Given the description of an element on the screen output the (x, y) to click on. 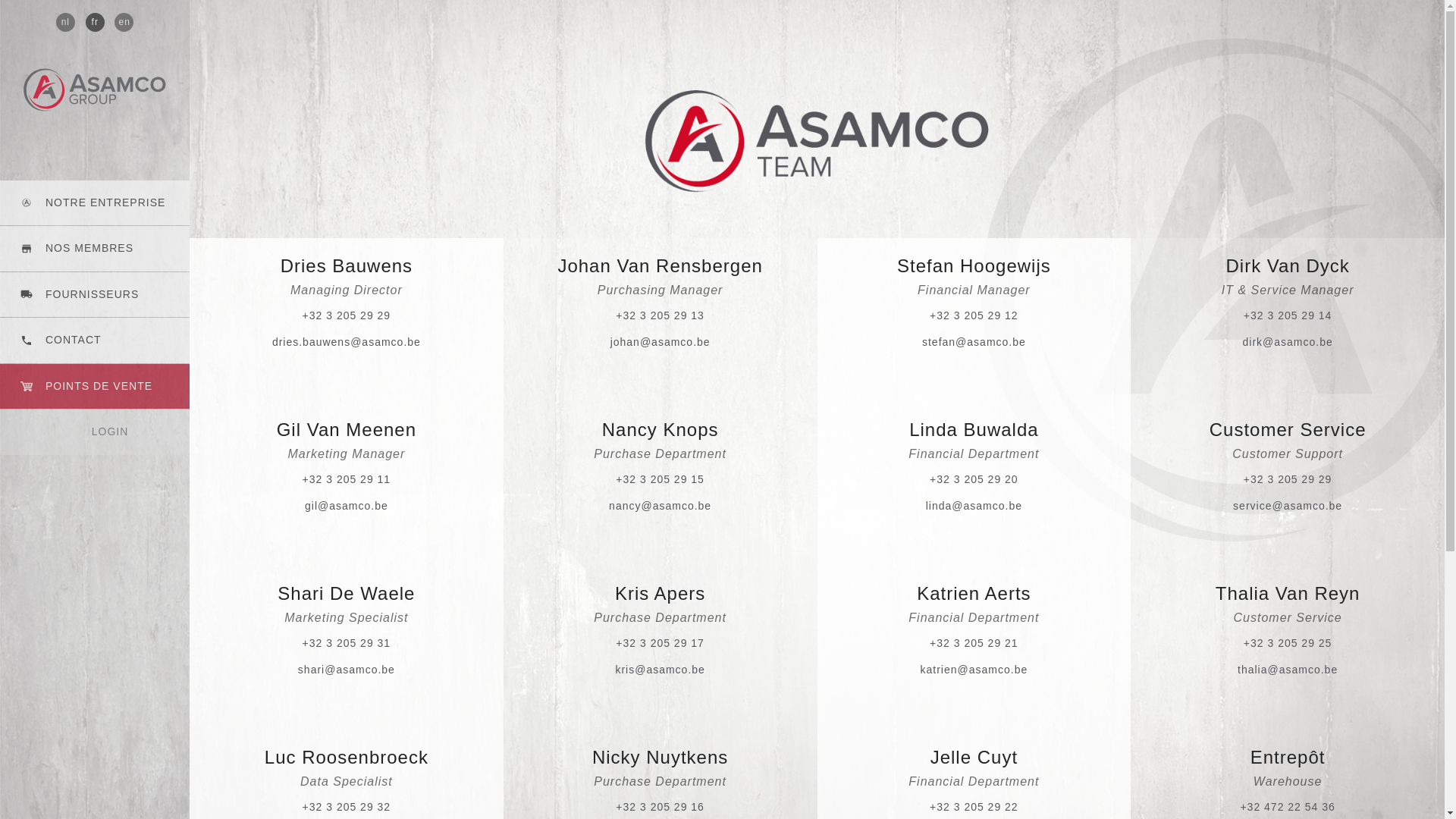
+32 472 22 54 36 Element type: text (1286, 806)
Asamco Element type: hover (94, 89)
+32 3 205 29 17 Element type: text (659, 643)
shari@asamco.be Element type: text (346, 669)
fr Element type: text (93, 21)
en Element type: text (123, 21)
+32 3 205 29 32 Element type: text (346, 806)
service@asamco.be Element type: text (1287, 505)
NOTRE ENTREPRISE Element type: text (94, 202)
Asamco-Group Element type: hover (817, 141)
+32 3 205 29 15 Element type: text (659, 479)
+32 3 205 29 13 Element type: text (659, 315)
+32 3 205 29 21 Element type: text (973, 643)
+32 3 205 29 16 Element type: text (659, 806)
+32 3 205 29 20 Element type: text (973, 479)
gil@asamco.be Element type: text (346, 505)
thalia@asamco.be Element type: text (1287, 669)
nl Element type: text (65, 21)
LOGIN Element type: text (94, 432)
dirk@asamco.be Element type: text (1287, 341)
+32 3 205 29 29 Element type: text (346, 315)
katrien@asamco.be Element type: text (974, 669)
+32 3 205 29 11 Element type: text (346, 479)
+32 3 205 29 22 Element type: text (973, 806)
+32 3 205 29 29 Element type: text (1287, 479)
kris@asamco.be Element type: text (659, 669)
NOS MEMBRES Element type: text (94, 248)
+32 3 205 29 14 Element type: text (1287, 315)
stefan@asamco.be Element type: text (974, 341)
johan@asamco.be Element type: text (660, 341)
dries.bauwens@asamco.be Element type: text (346, 341)
POINTS DE VENTE Element type: text (94, 386)
+32 3 205 29 12 Element type: text (973, 315)
nancy@asamco.be Element type: text (659, 505)
+32 3 205 29 31 Element type: text (346, 643)
+32 3 205 29 25 Element type: text (1287, 643)
linda@asamco.be Element type: text (973, 505)
CONTACT Element type: text (94, 340)
FOURNISSEURS Element type: text (94, 294)
